Given the description of an element on the screen output the (x, y) to click on. 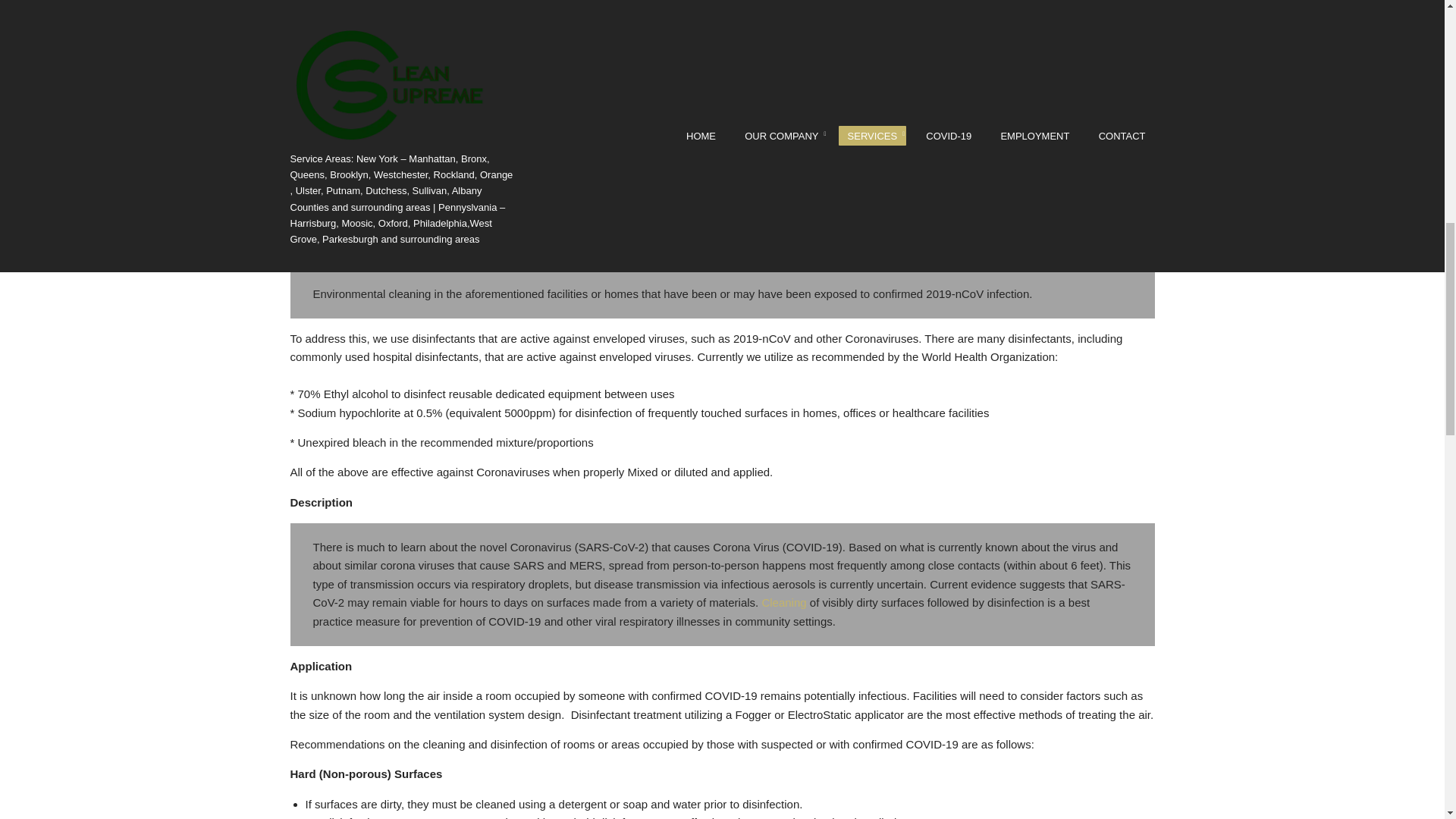
Cleaning (783, 602)
